Given the description of an element on the screen output the (x, y) to click on. 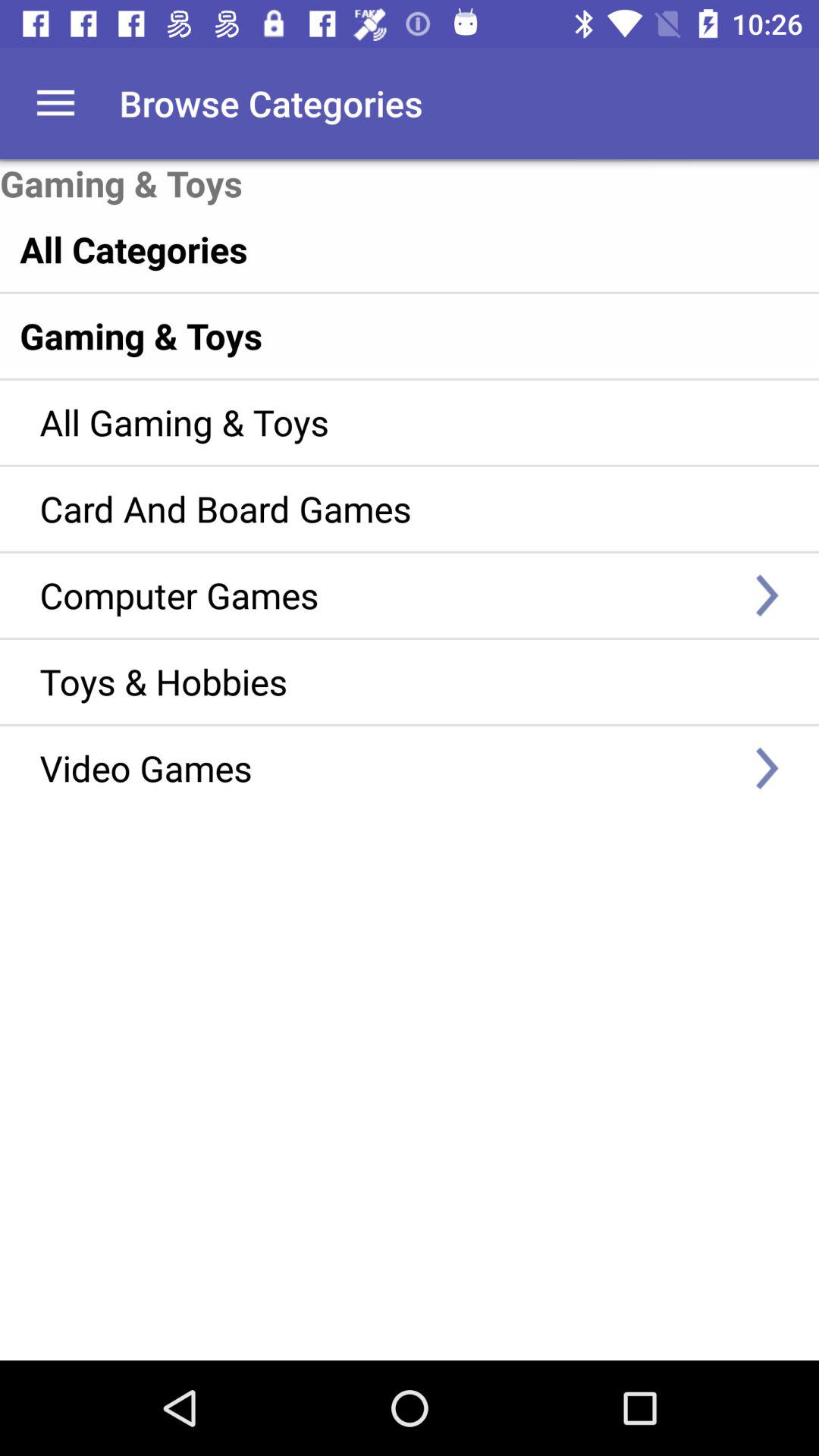
swipe until the computer games item (387, 595)
